Given the description of an element on the screen output the (x, y) to click on. 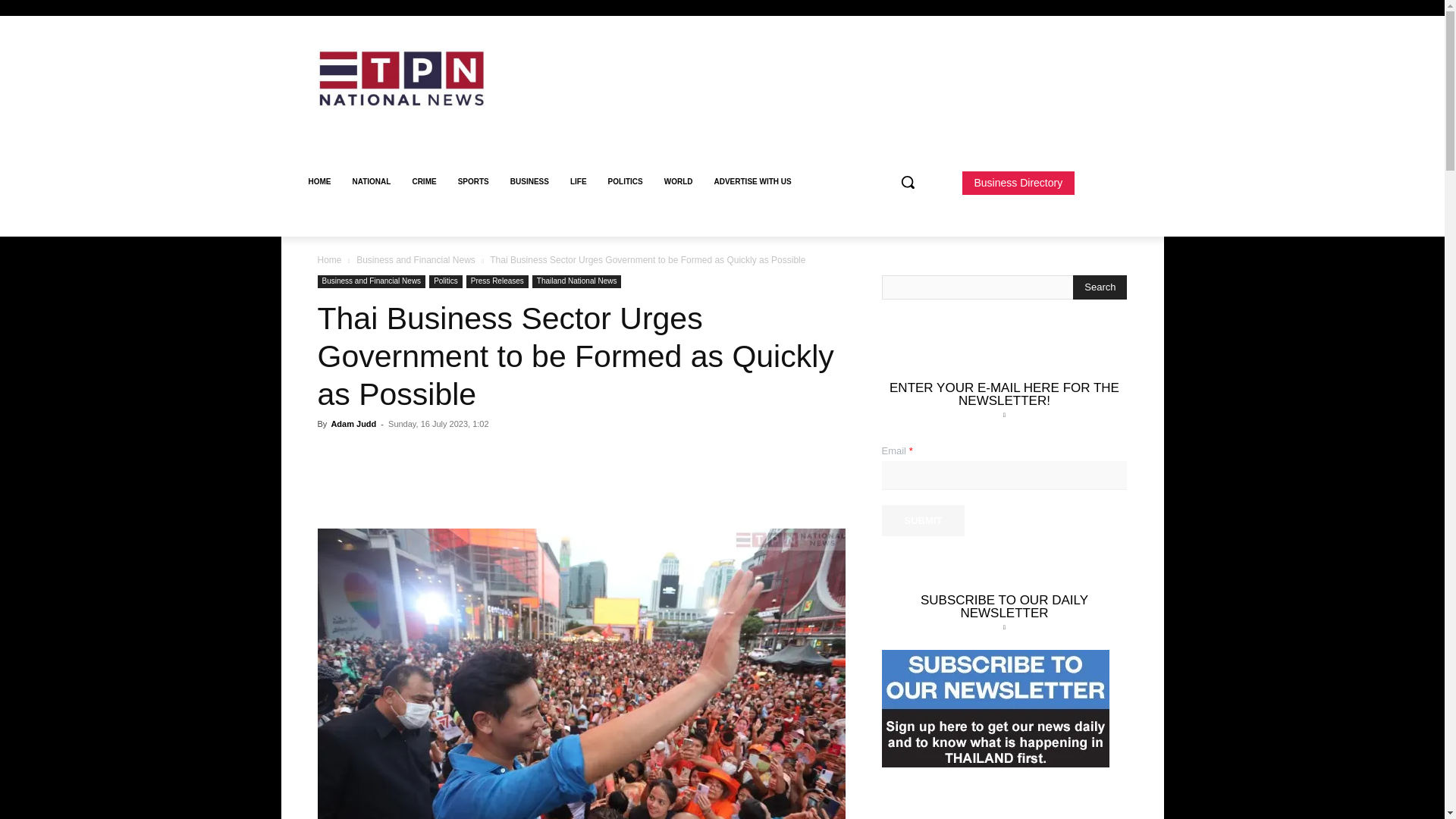
Thailand National News (576, 281)
The Pattaya News National, Thailand News (425, 78)
Business Directory (1017, 182)
Press Releases (496, 281)
LIFE (577, 181)
CRIME (423, 181)
Business and Financial News (416, 259)
SPORTS (472, 181)
ADVERTISE WITH US (752, 181)
Politics (446, 281)
